Given the description of an element on the screen output the (x, y) to click on. 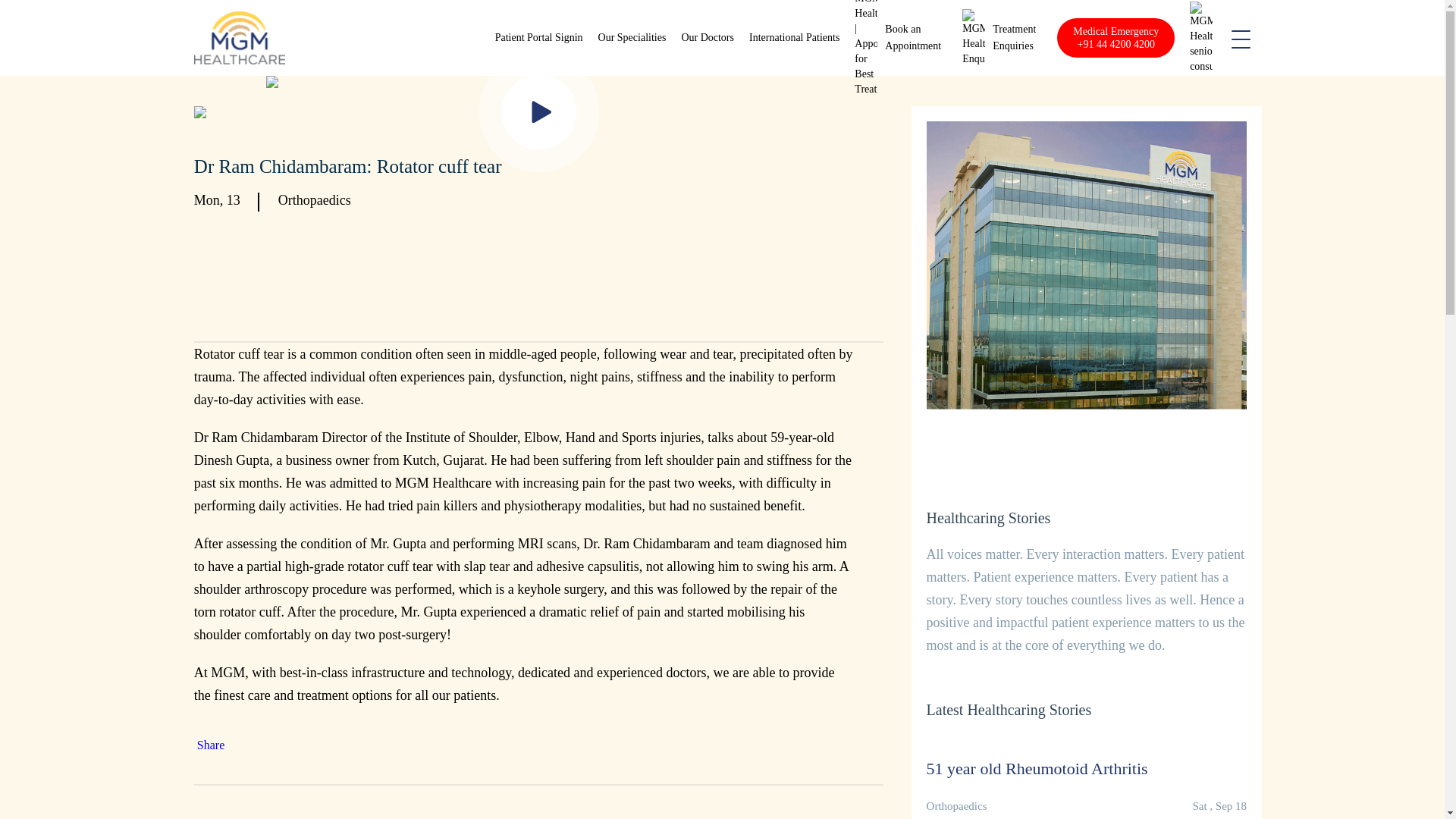
International Patients (794, 37)
Our Doctors (707, 37)
International Patients (794, 37)
Our Specialities (632, 37)
MGM Healthcare (239, 37)
Our Specialities (632, 37)
Contact Us (1013, 37)
Our Doctors (707, 37)
MGM Emergency Number (1115, 37)
Patient Portal Signin (1013, 37)
